Given the description of an element on the screen output the (x, y) to click on. 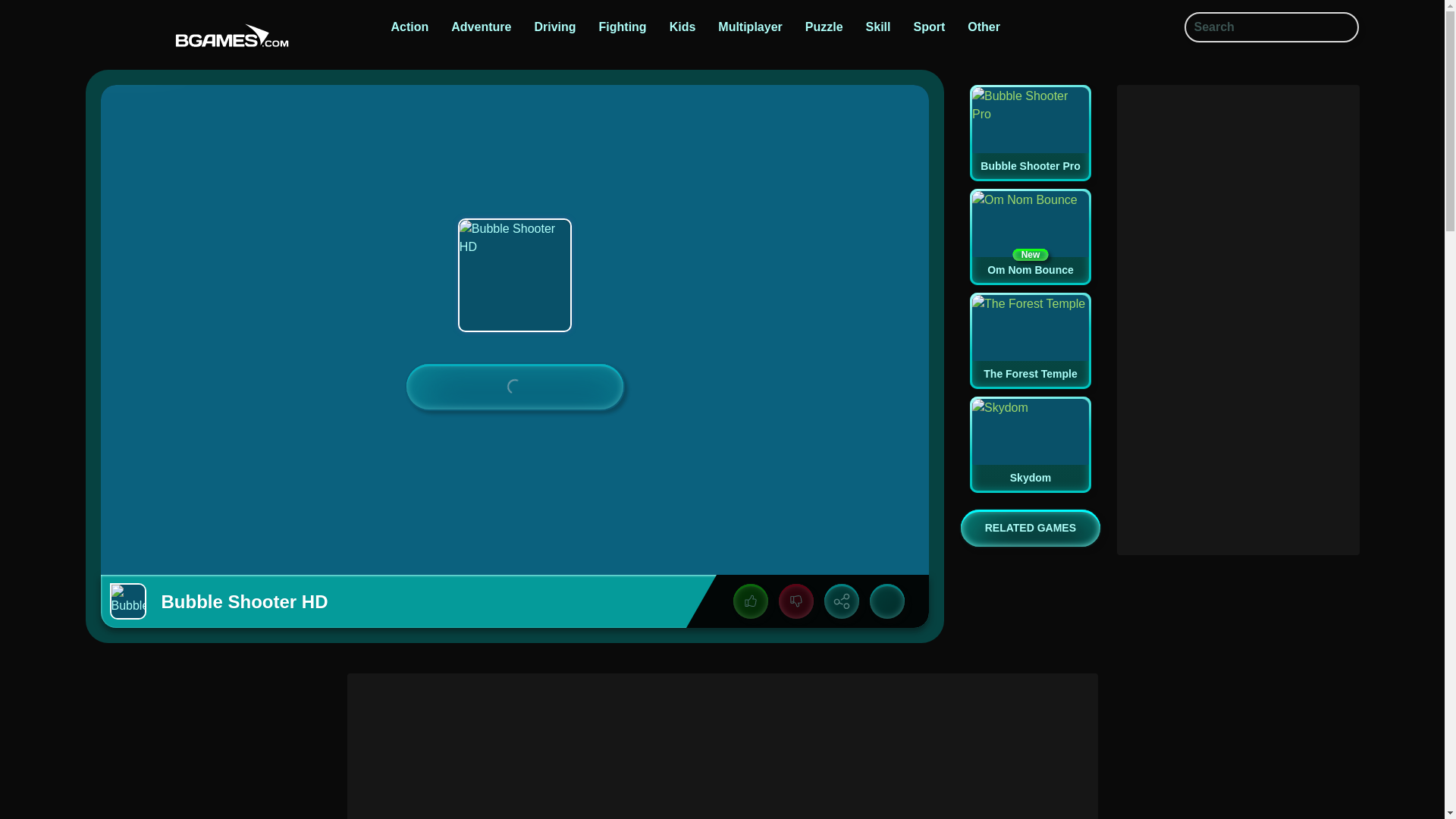
action (410, 27)
BGames.com (228, 36)
Action (410, 27)
Adventure (481, 27)
